Given the description of an element on the screen output the (x, y) to click on. 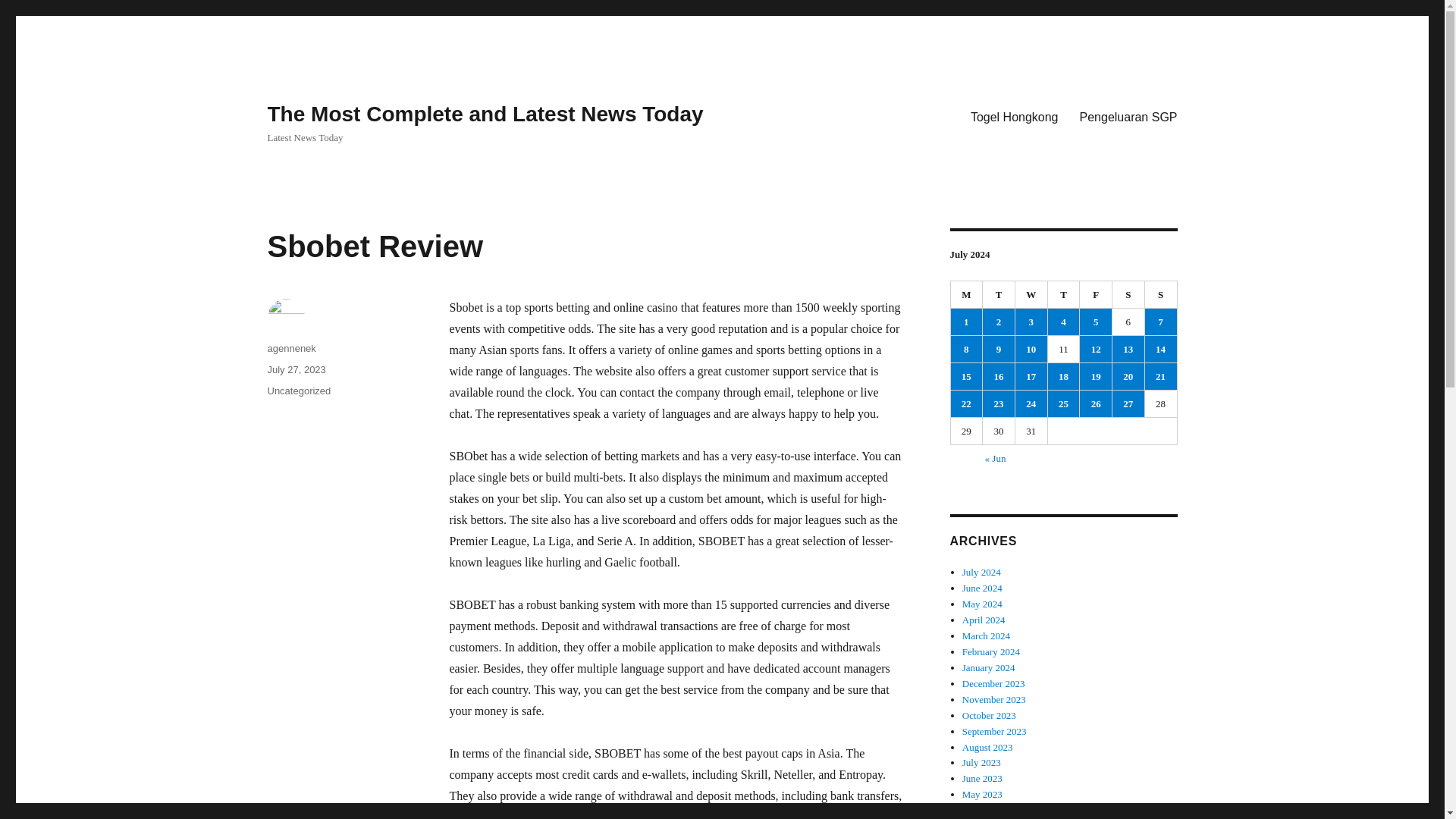
Uncategorized (298, 390)
9 (998, 348)
15 (966, 376)
7 (1160, 321)
4 (1064, 321)
22 (966, 403)
Saturday (1128, 294)
14 (1160, 348)
19 (1096, 376)
Thursday (1064, 294)
The Most Complete and Latest News Today (484, 114)
Wednesday (1031, 294)
1 (966, 321)
12 (1096, 348)
June 2024 (982, 587)
